Given the description of an element on the screen output the (x, y) to click on. 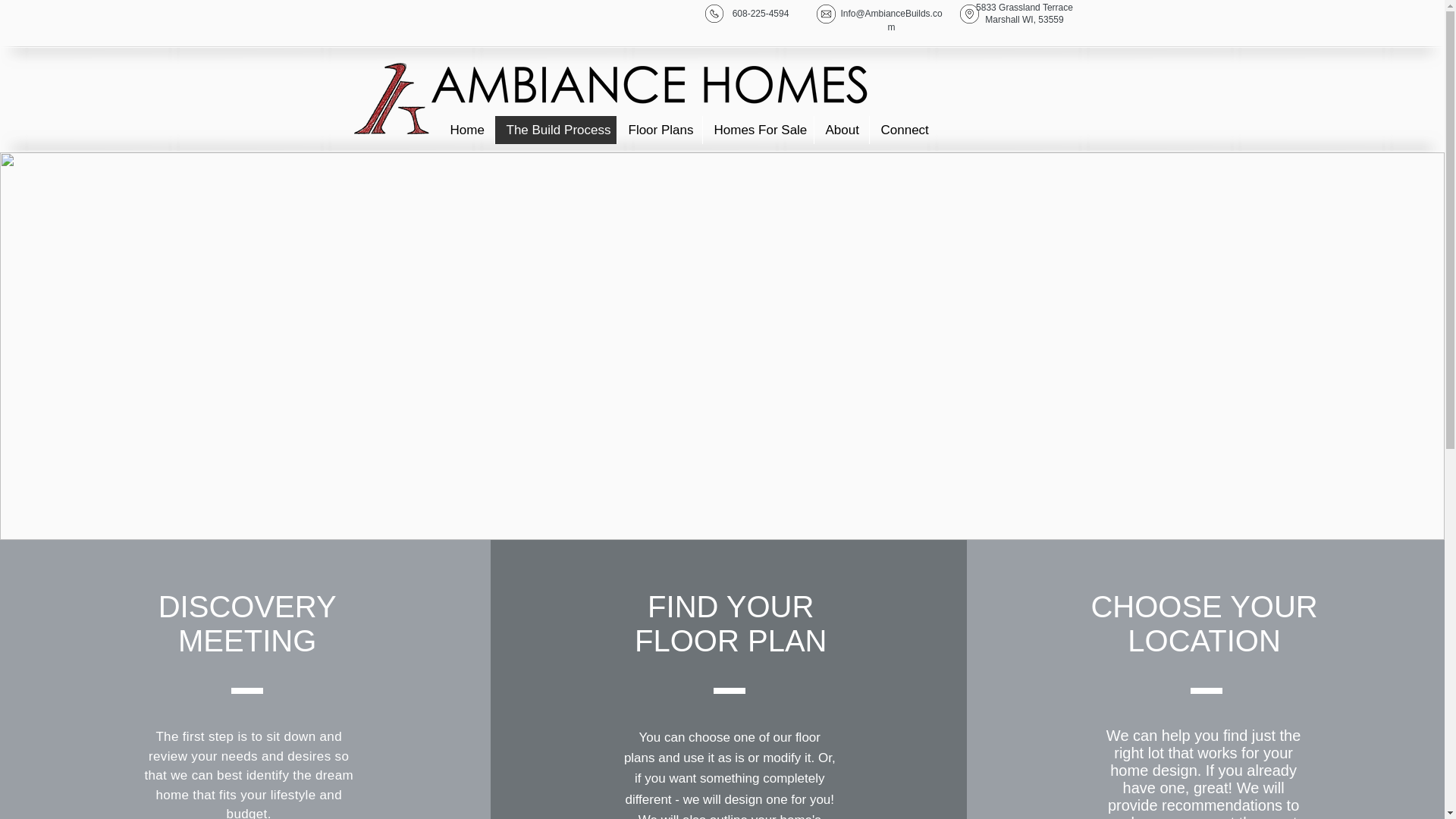
Connect (902, 130)
About (839, 130)
The Build Process (555, 130)
Home (465, 130)
Homes For Sale (757, 130)
Floor Plans (658, 130)
